Given the description of an element on the screen output the (x, y) to click on. 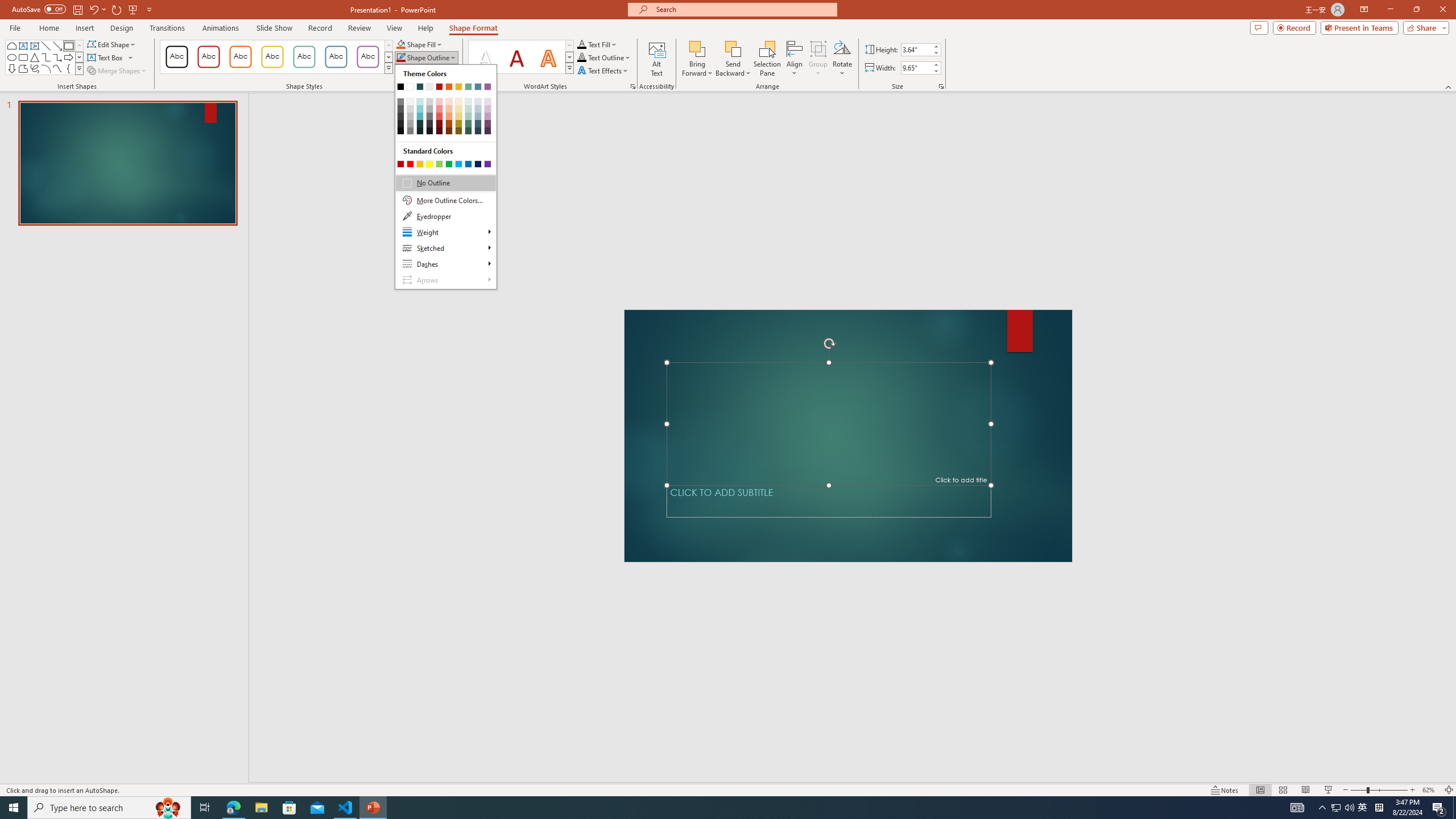
Edit Shape (112, 44)
Text Fill (596, 44)
Rotate (841, 58)
